Given the description of an element on the screen output the (x, y) to click on. 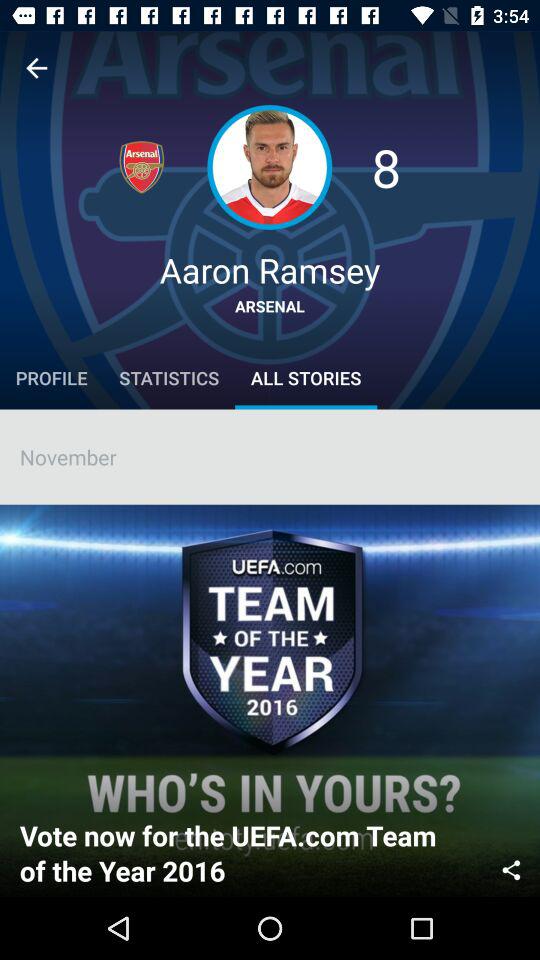
click the item next to the vote now for (511, 868)
